Given the description of an element on the screen output the (x, y) to click on. 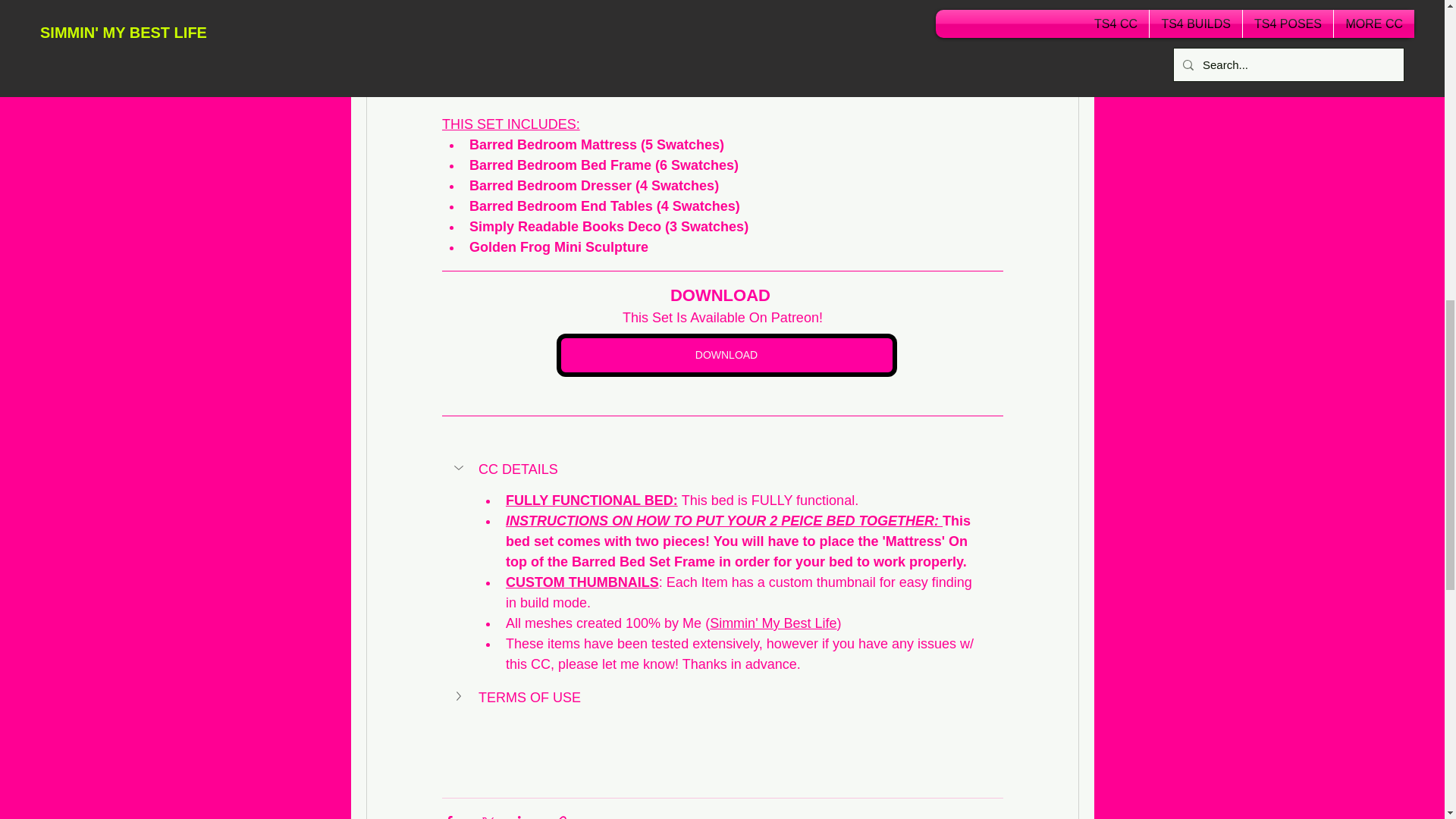
DOWNLOAD (726, 354)
